Given the description of an element on the screen output the (x, y) to click on. 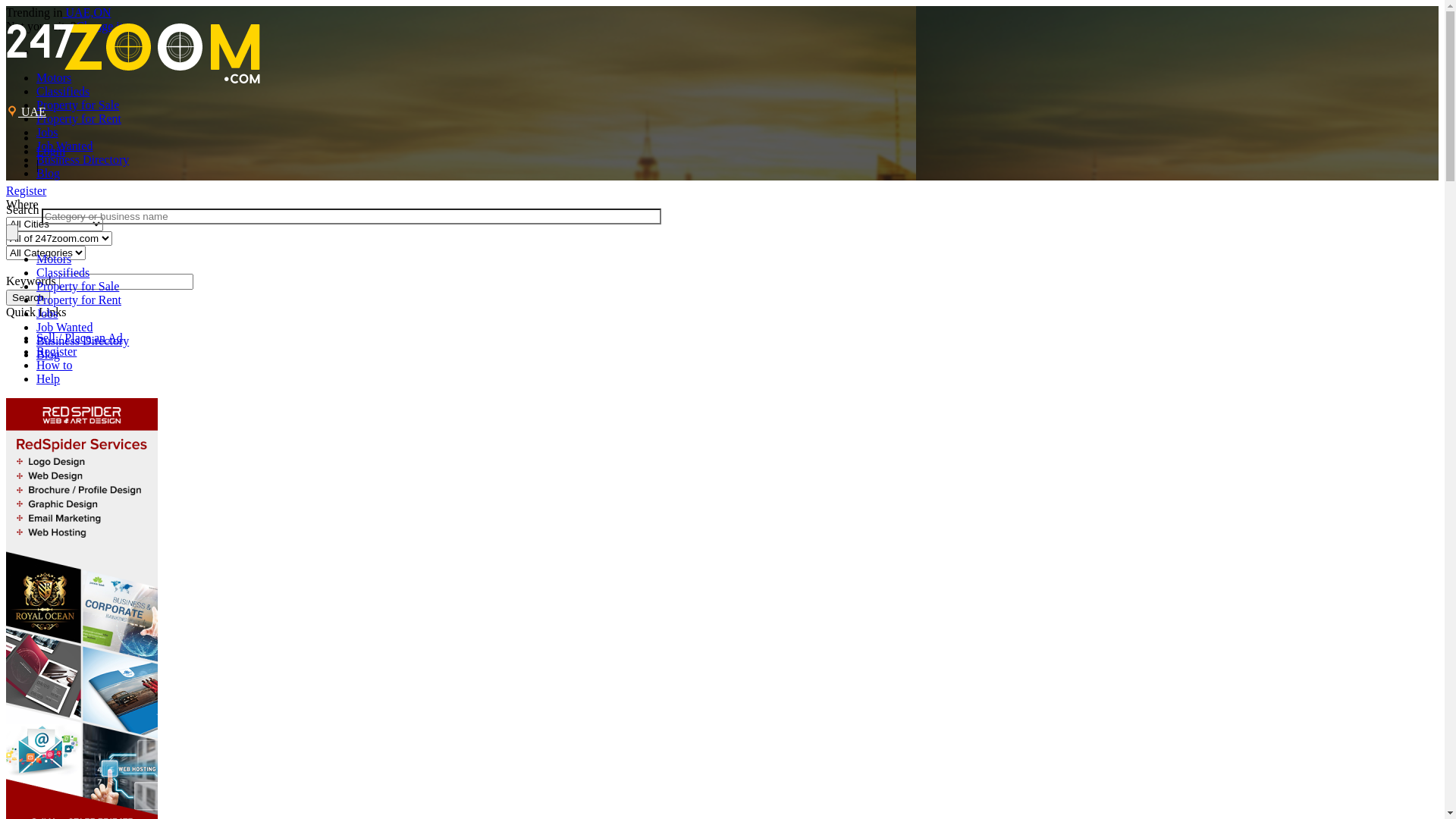
Login Element type: text (50, 150)
Business Directory Element type: text (82, 340)
Classifieds Element type: text (62, 90)
UAE,ON Element type: text (86, 12)
Register Element type: text (56, 351)
Business Directory Element type: text (82, 159)
Blog Element type: text (47, 354)
Change it Element type: text (98, 25)
Classifieds Element type: text (62, 272)
Jobs Element type: text (46, 313)
Find. Element type: hover (12, 232)
Help Element type: text (47, 378)
UAE Element type: text (26, 111)
Search Element type: text (28, 297)
Property for Rent Element type: text (78, 118)
Property for Sale Element type: text (77, 104)
Job Wanted Element type: text (64, 326)
Motors Element type: text (53, 77)
Register Element type: text (26, 190)
Job Wanted Element type: text (64, 145)
Property for Sale Element type: text (77, 285)
Blog Element type: text (47, 172)
Motors Element type: text (53, 258)
Jobs Element type: text (46, 131)
Property for Rent Element type: text (78, 299)
How to Element type: text (54, 364)
Sell / Place an Ad Element type: text (79, 337)
